Given the description of an element on the screen output the (x, y) to click on. 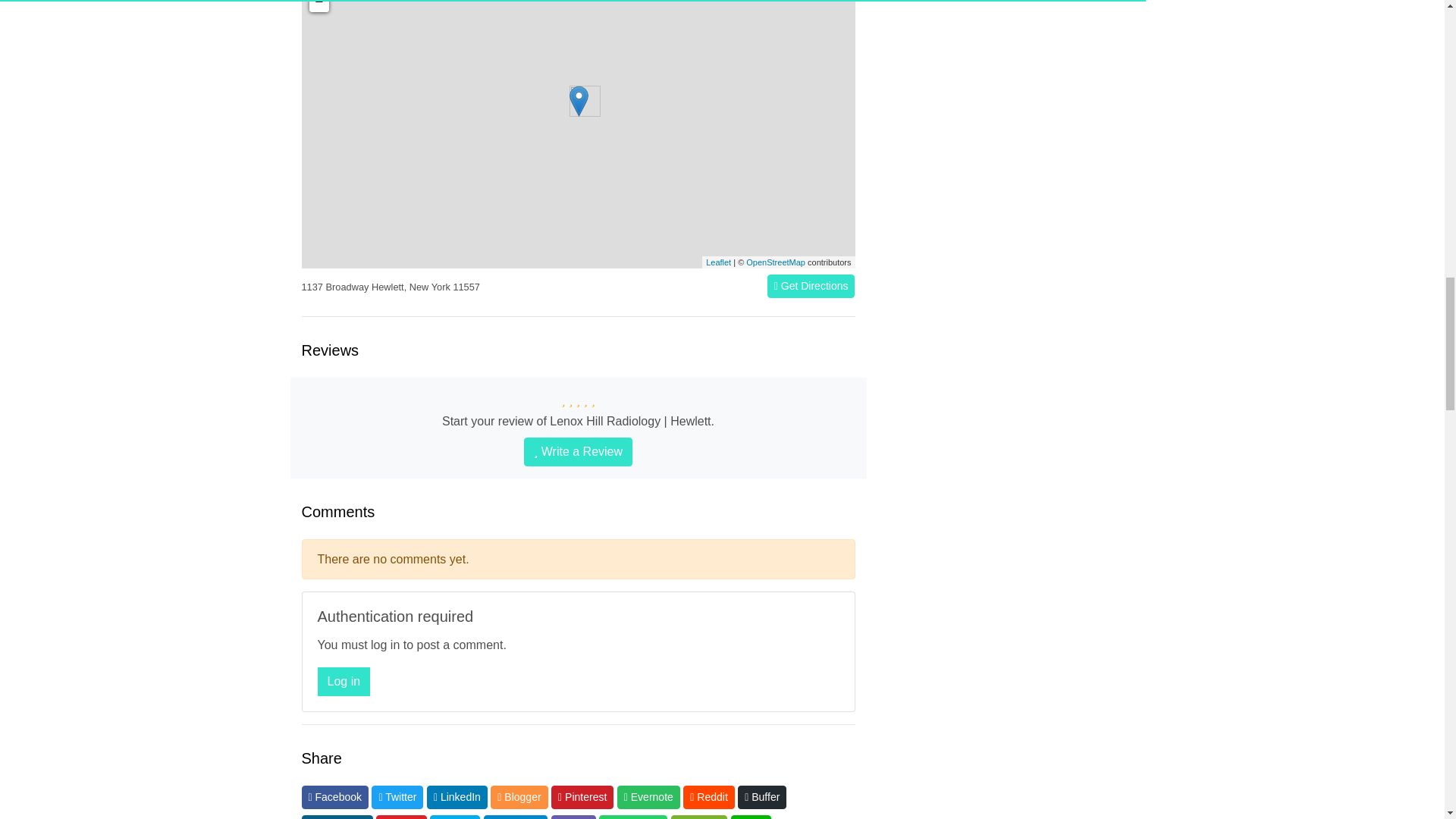
Zoom out (318, 6)
A JS library for interactive maps (718, 261)
